Given the description of an element on the screen output the (x, y) to click on. 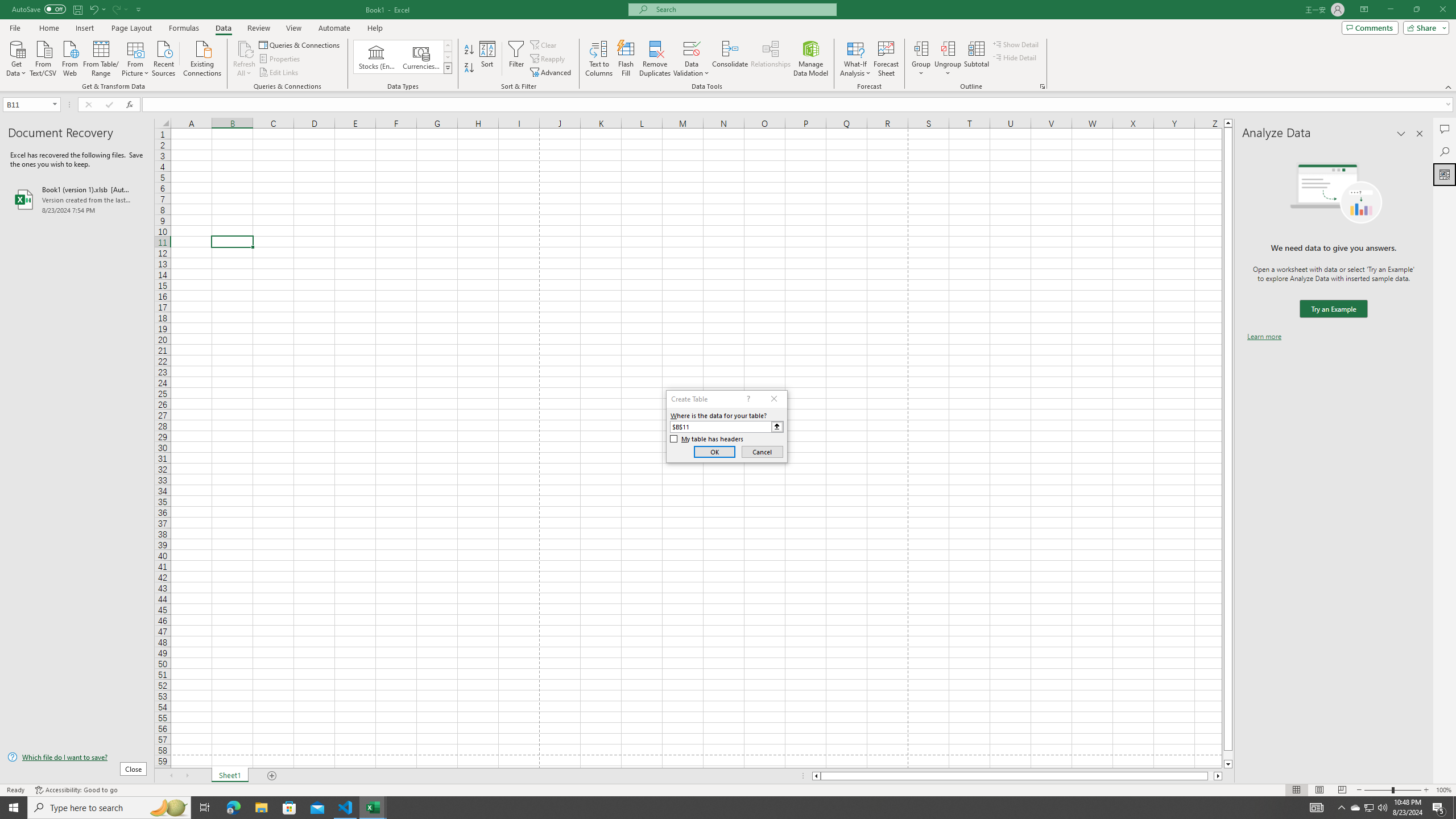
Hide Detail (1014, 56)
From Picture (135, 57)
Stocks (English) (375, 56)
Forecast Sheet (885, 58)
Manage Data Model (810, 58)
Close pane (1419, 133)
Row Down (448, 56)
Recent Sources (163, 57)
